Given the description of an element on the screen output the (x, y) to click on. 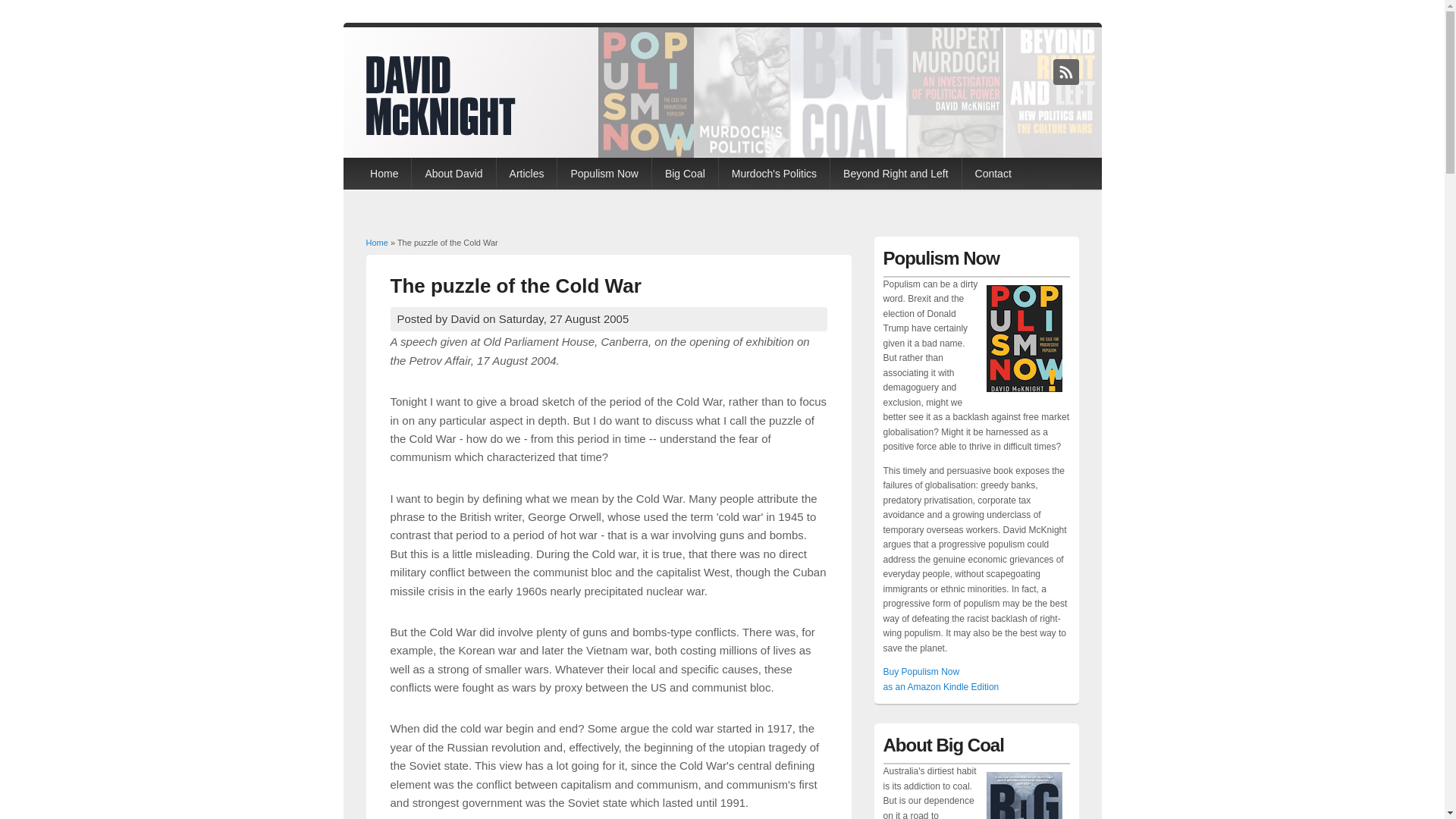
Murdoch's Politics Element type: text (773, 173)
Populism Now Element type: text (603, 173)
David McKnight RSS Element type: text (1065, 71)
Buy Populism Now
as an Amazon Kindle Edition Element type: text (940, 679)
Articles Element type: text (526, 173)
Home Element type: hover (439, 130)
Home Element type: text (384, 173)
Home Element type: text (376, 242)
Beyond Right and Left Element type: text (895, 173)
About David Element type: text (453, 173)
Contact Element type: text (993, 173)
Big Coal Element type: text (685, 173)
